Given the description of an element on the screen output the (x, y) to click on. 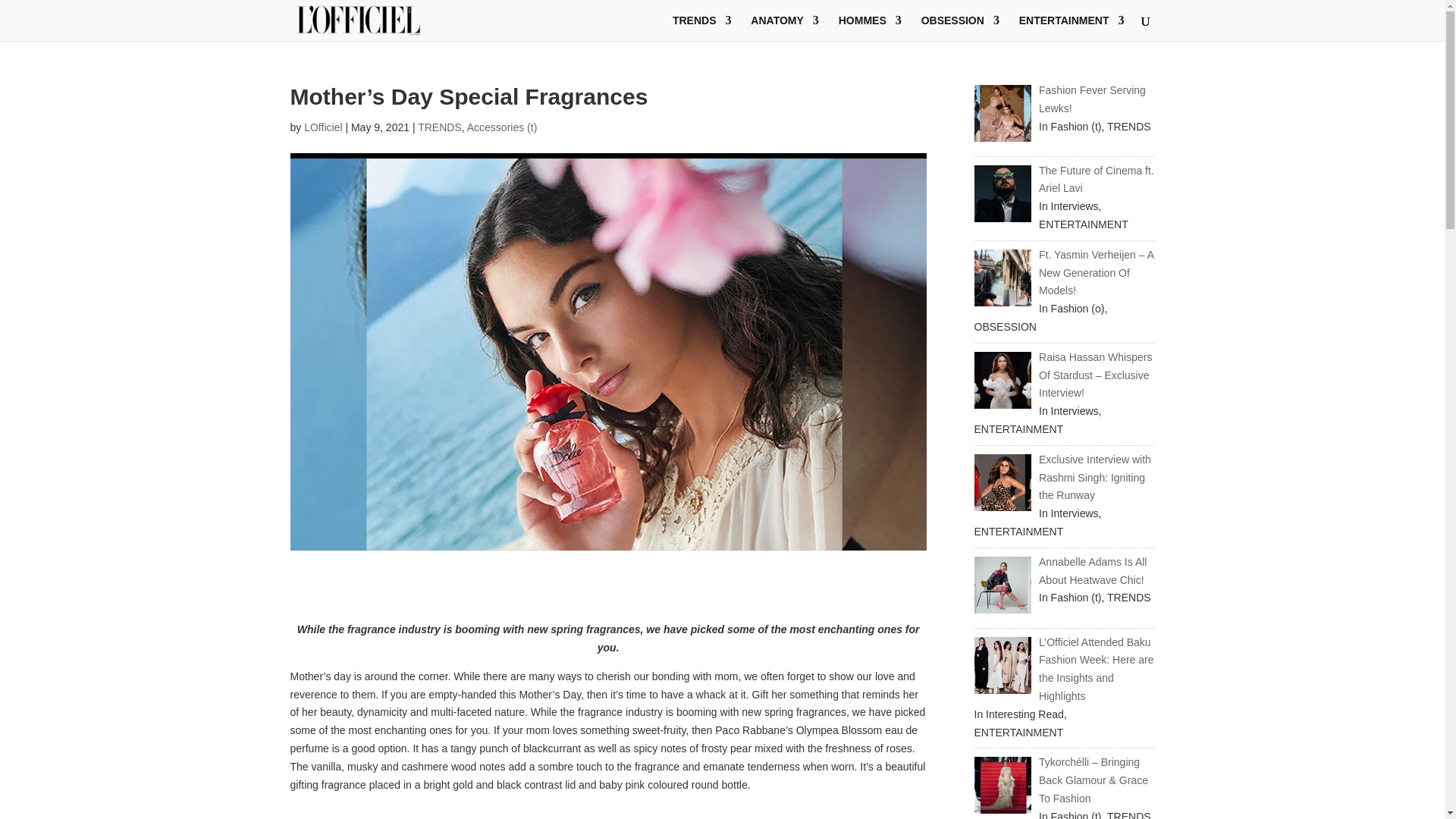
ANATOMY (784, 27)
HOMMES (869, 27)
OBSESSION (959, 27)
Posts by LOfficiel (323, 127)
ENTERTAINMENT (1071, 27)
TRENDS (702, 27)
